Given the description of an element on the screen output the (x, y) to click on. 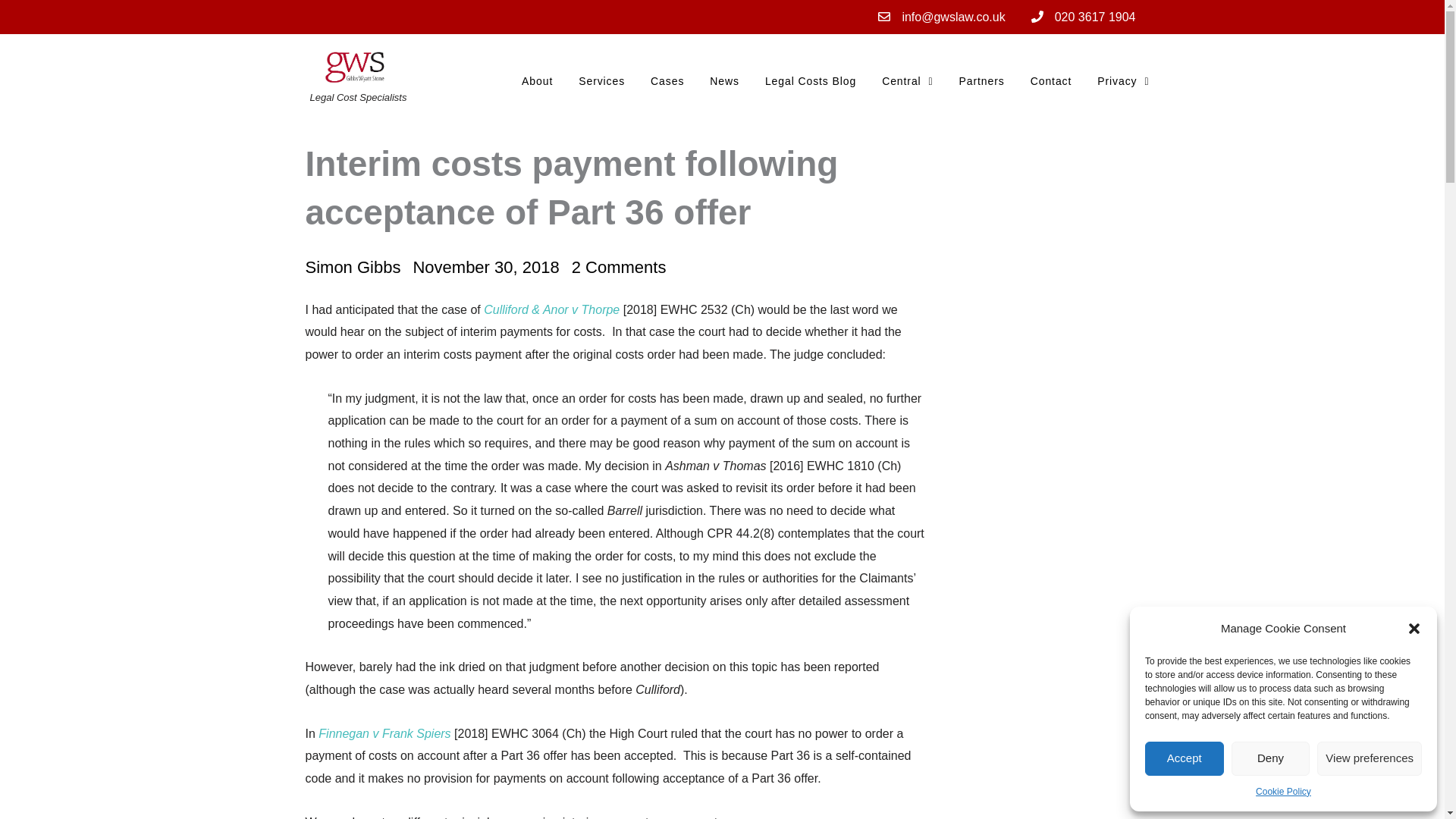
About (537, 80)
View preferences (1369, 758)
020 3617 1904 (1081, 16)
Legal Costs Blog (810, 80)
Accept (1184, 758)
Cookie Policy (1283, 791)
News (724, 80)
Services (601, 80)
Cases (667, 80)
Deny (1270, 758)
